Given the description of an element on the screen output the (x, y) to click on. 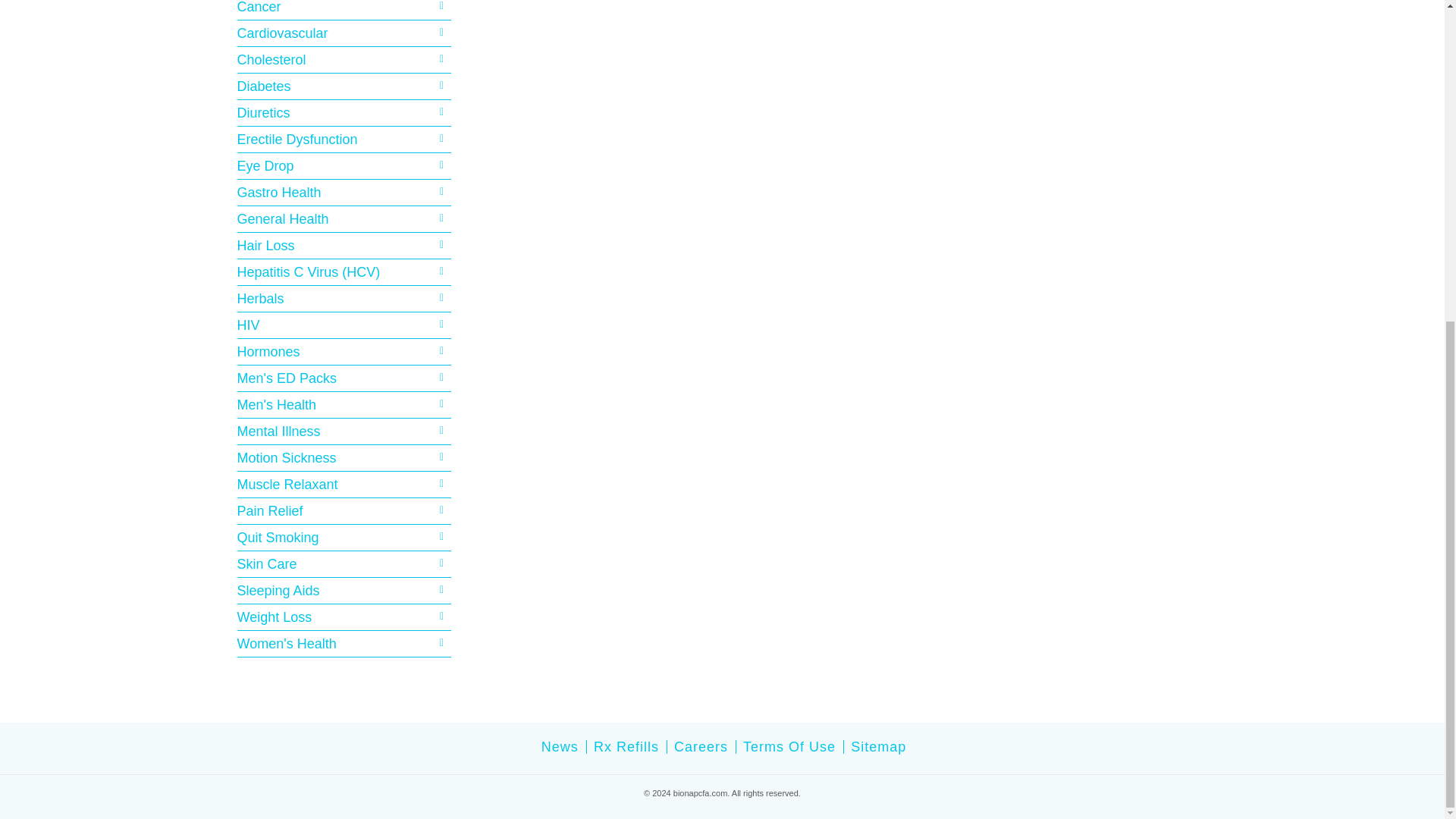
Cholesterol (343, 59)
Diuretics (343, 113)
Erectile Dysfunction (343, 139)
Cancer (343, 7)
Cardiovascular (343, 33)
Hair Loss (343, 245)
Gastro Health (343, 192)
Diabetes (343, 85)
Herbals (343, 298)
Eye Drop (343, 166)
